Given the description of an element on the screen output the (x, y) to click on. 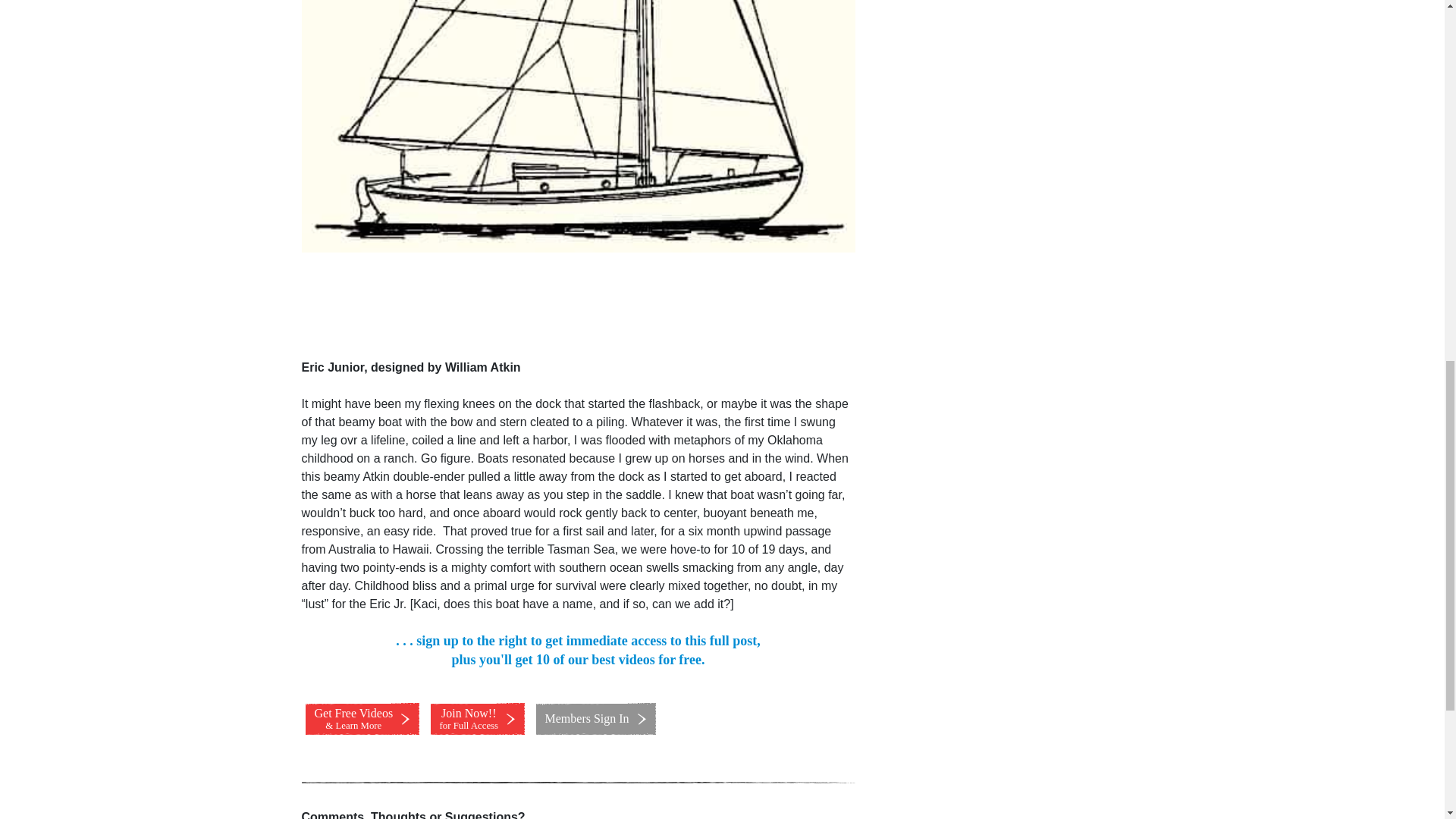
Members Sign In (477, 718)
